Given the description of an element on the screen output the (x, y) to click on. 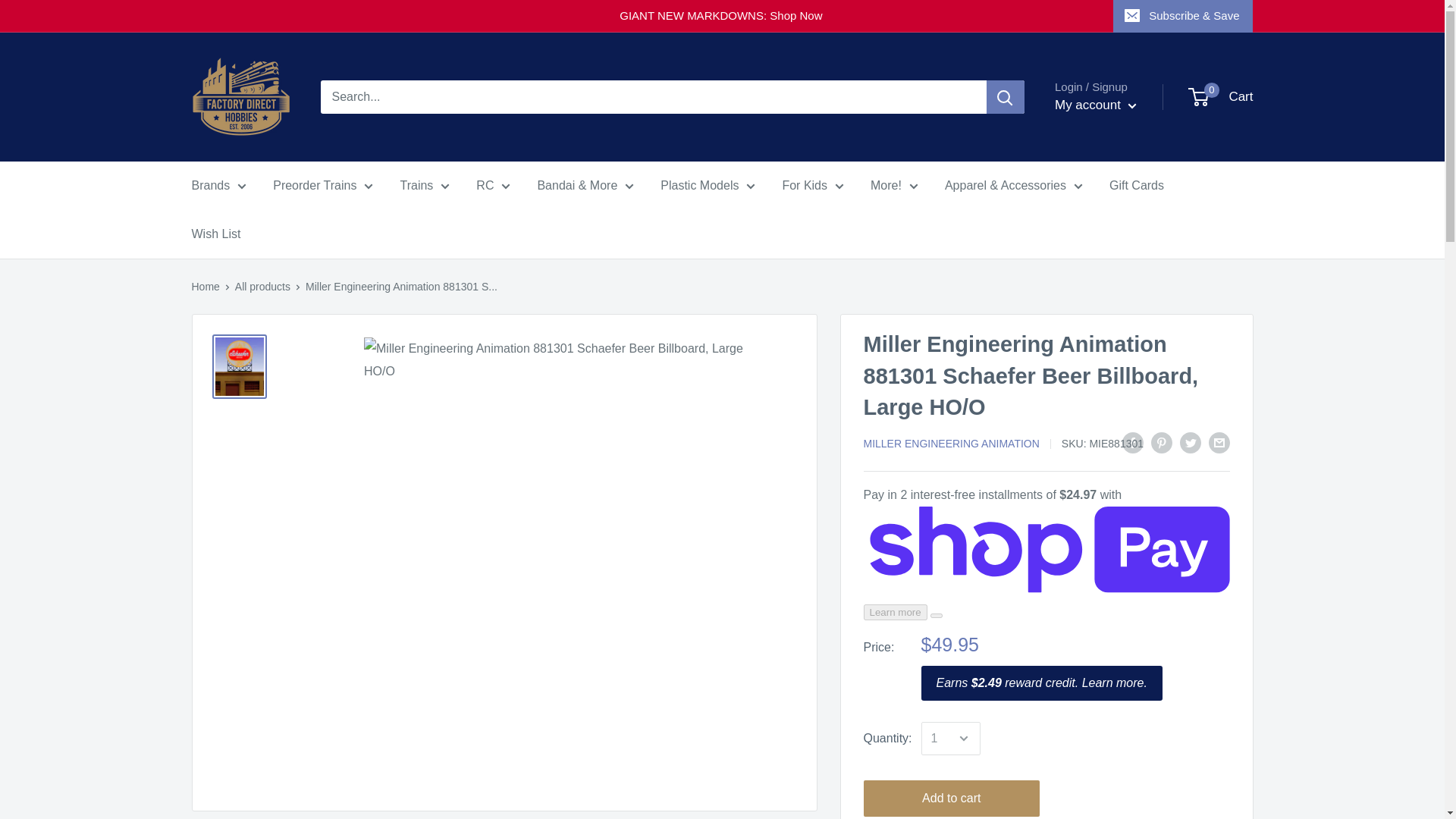
GIANT NEW MARKDOWNS: Shop Now (651, 15)
